Given the description of an element on the screen output the (x, y) to click on. 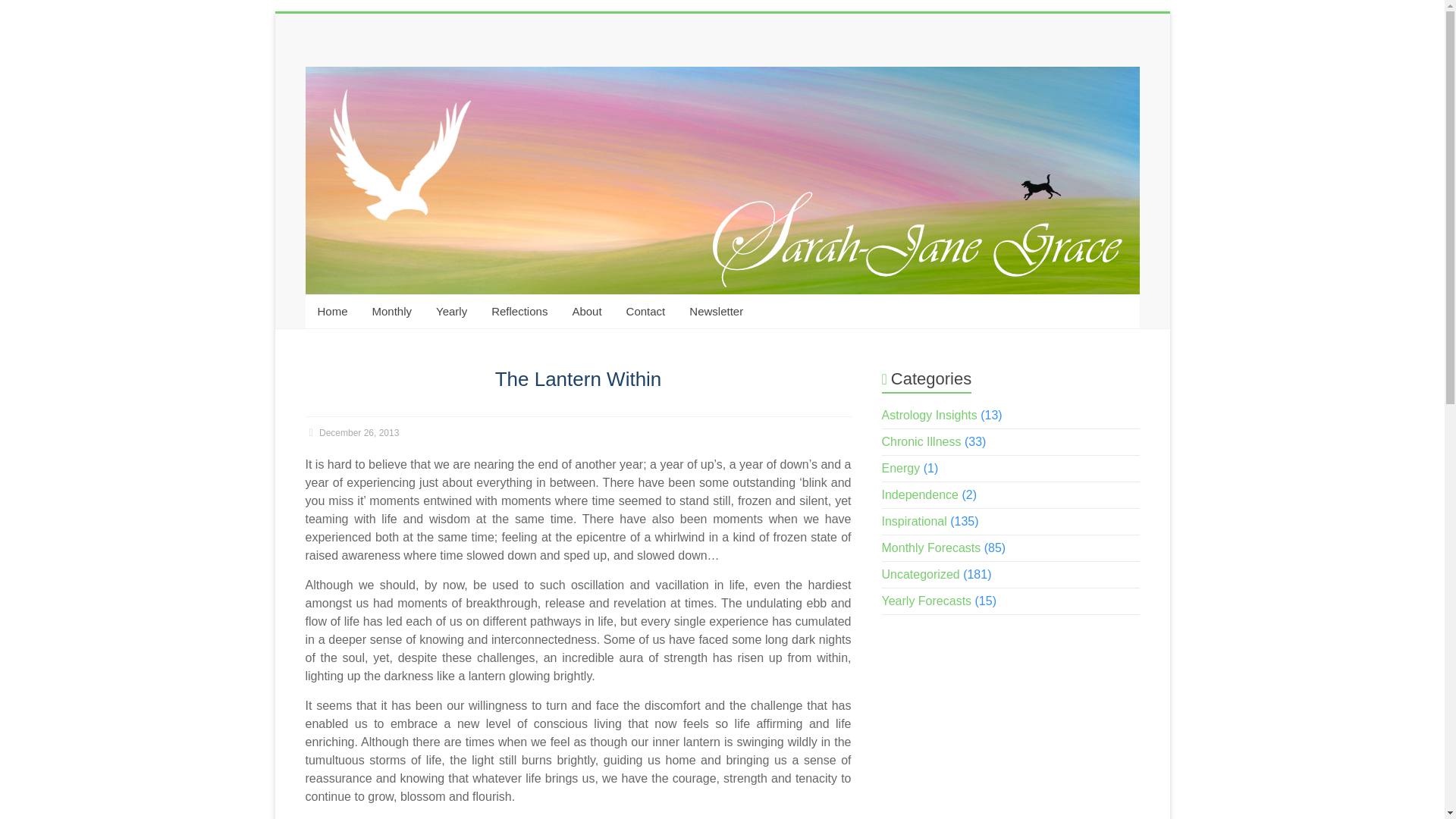
Inspirational (914, 521)
Yearly Forecasts (927, 600)
Reflections (519, 311)
About Sarah-Jane (585, 311)
About (585, 311)
Astrology Insights (929, 414)
Newsletter (716, 311)
7:52 am (351, 432)
Contact (646, 311)
Home (331, 311)
